Given the description of an element on the screen output the (x, y) to click on. 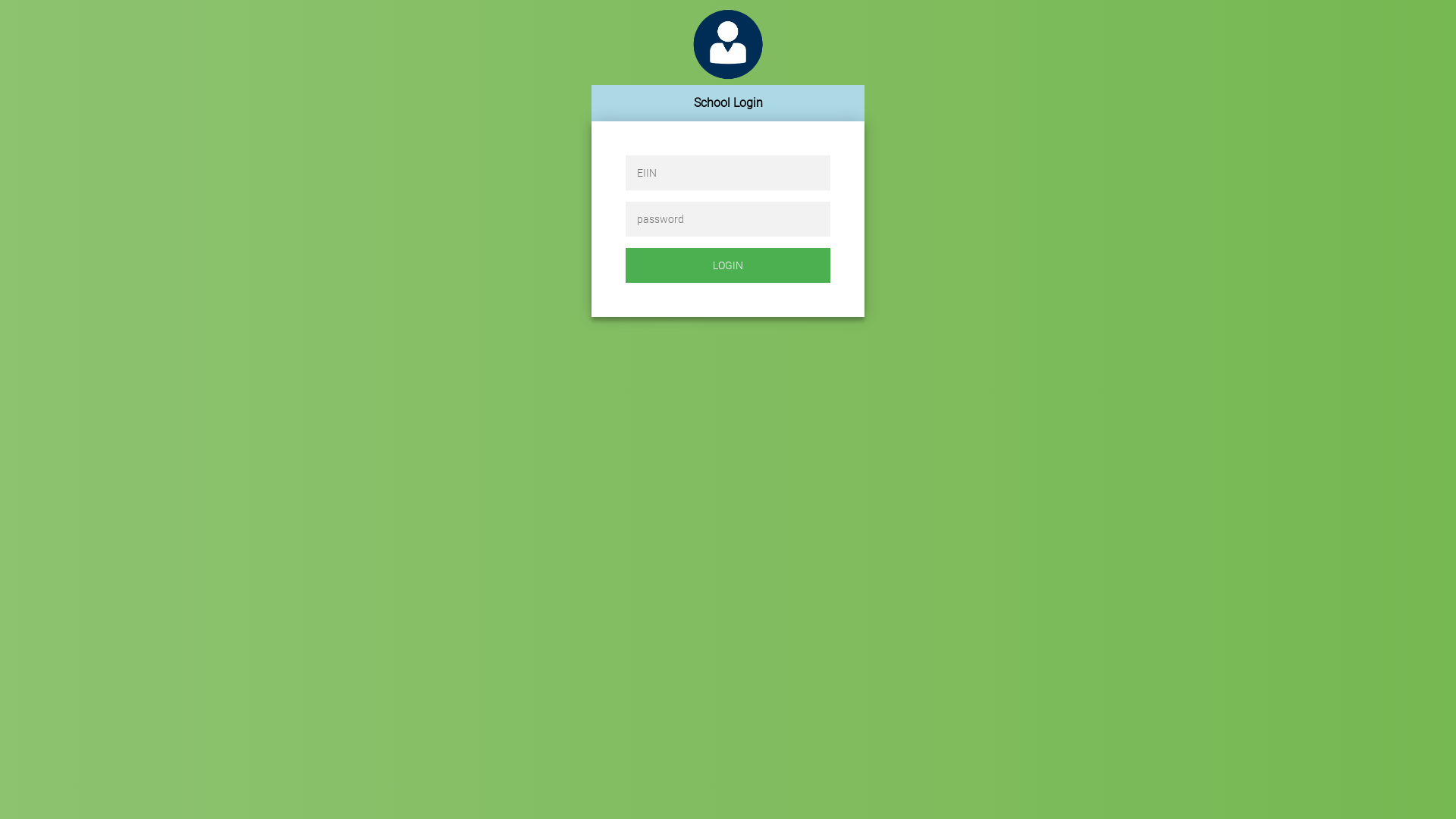
LOGIN Element type: text (727, 264)
